Given the description of an element on the screen output the (x, y) to click on. 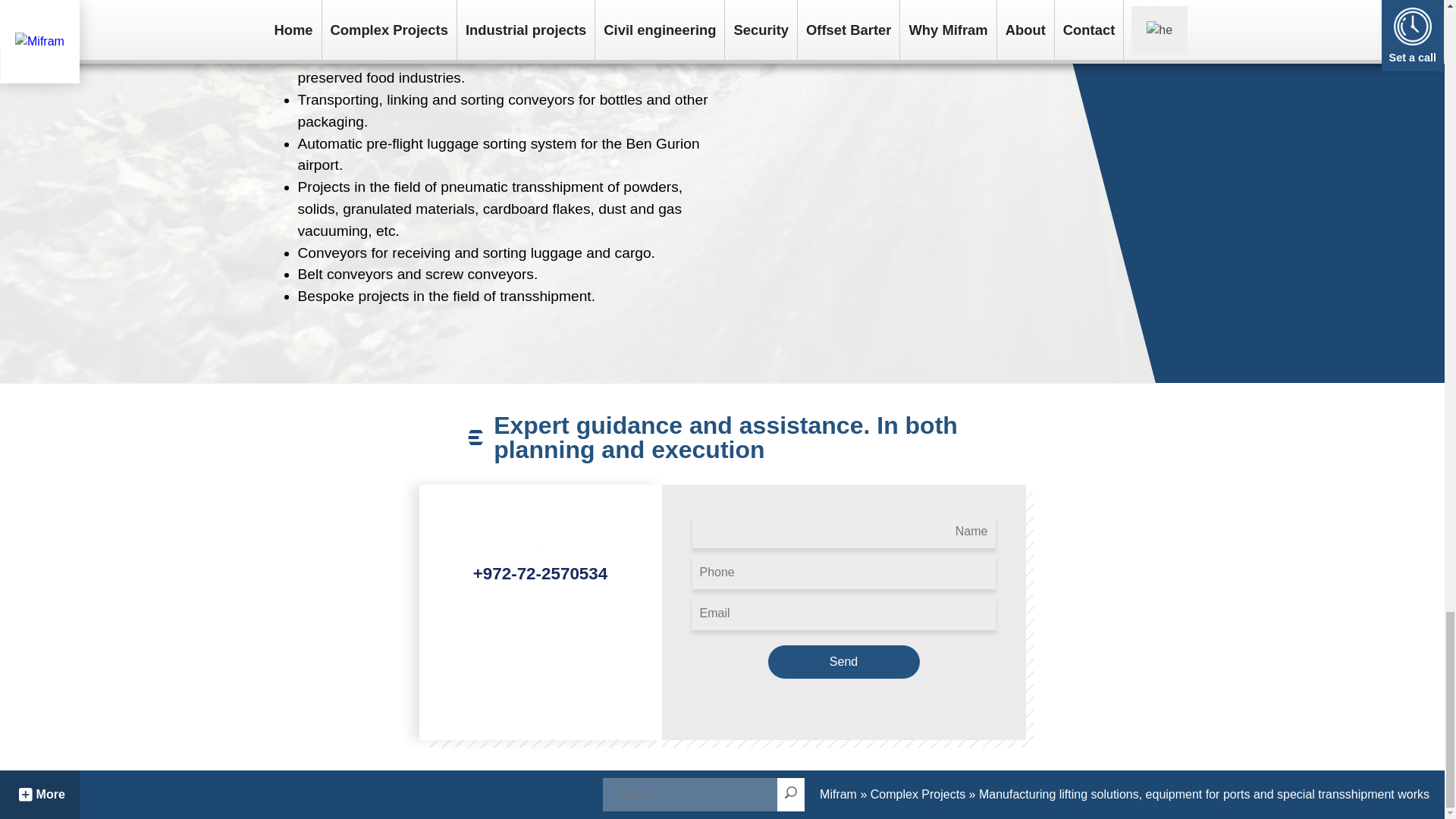
Send (842, 661)
Mifram (838, 793)
Send (842, 661)
Complex Projects (917, 793)
